Given the description of an element on the screen output the (x, y) to click on. 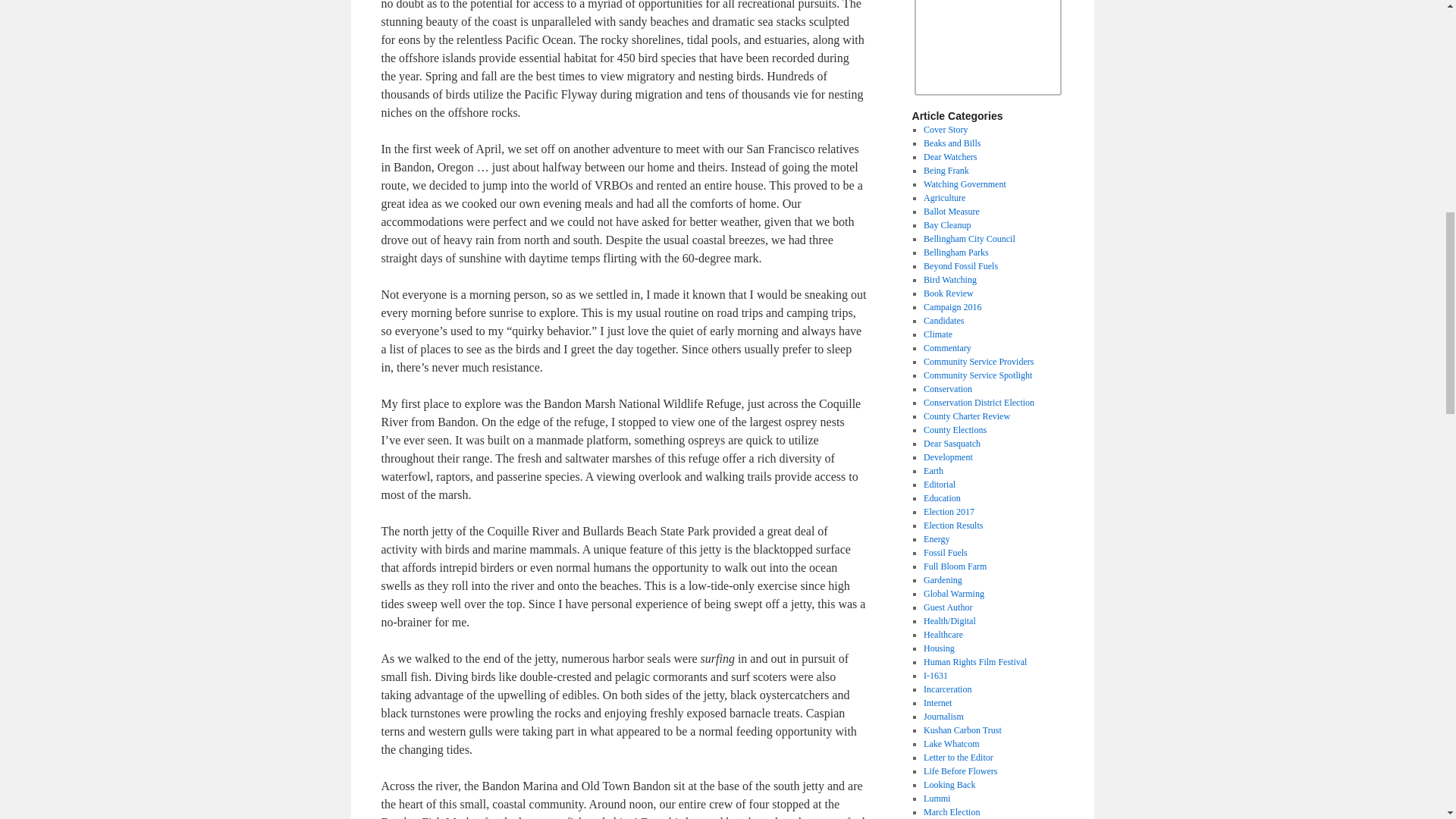
Cover Story (945, 129)
Commentary (947, 347)
Ballot Measure (951, 211)
Campaign 2016 (952, 307)
Bellingham Parks (955, 252)
Beaks and Bills (951, 143)
Watching Government (964, 184)
Beyond Fossil Fuels (960, 266)
Climate (937, 334)
Dear Watchers (949, 156)
